Given the description of an element on the screen output the (x, y) to click on. 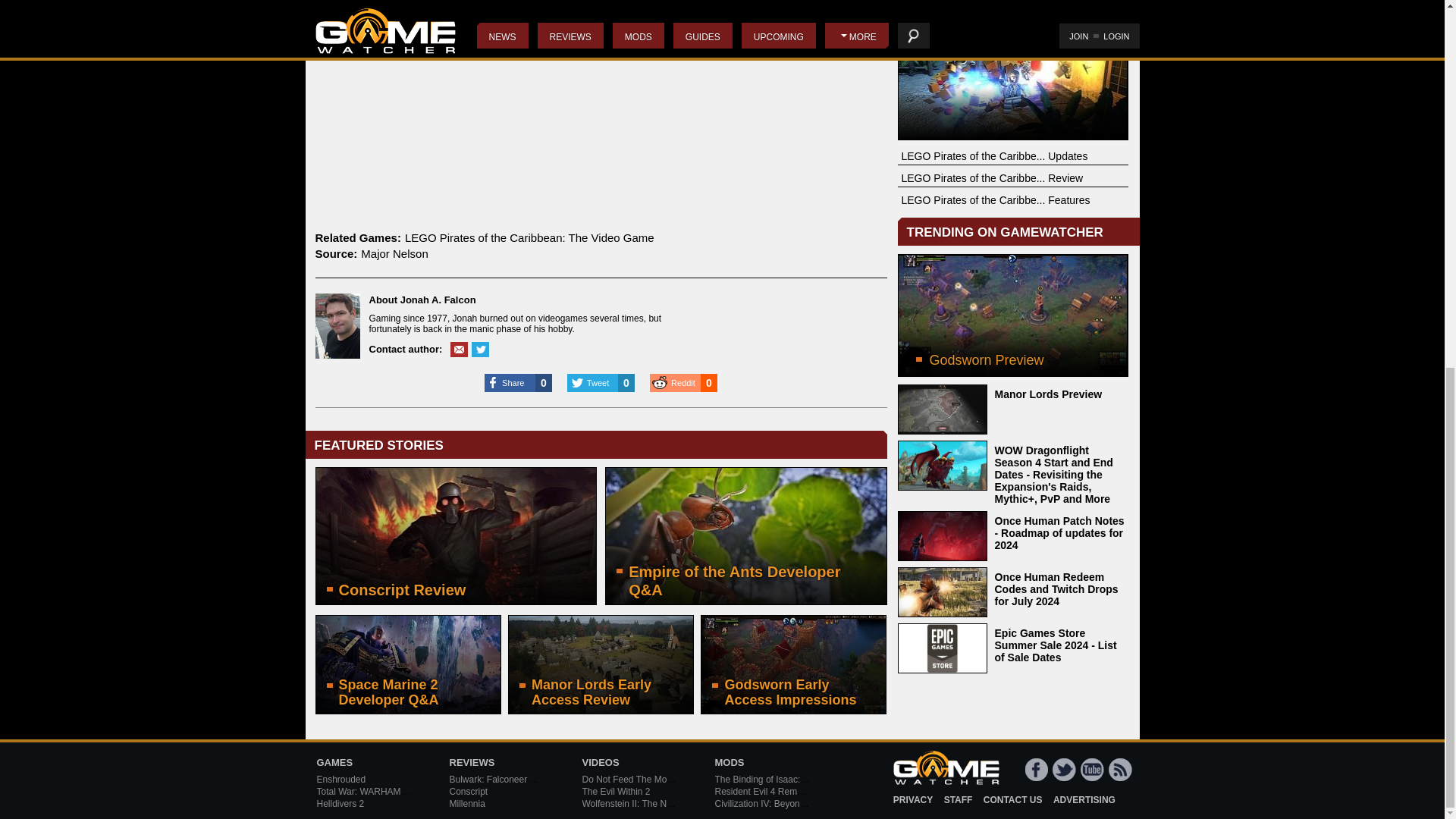
Conscript Review (455, 535)
Major Nelson (394, 253)
LEGO Pirates of the Caribbean: The Video Game (1013, 78)
LEGO Pirates of the Caribbean: The Video Game (528, 237)
